Given the description of an element on the screen output the (x, y) to click on. 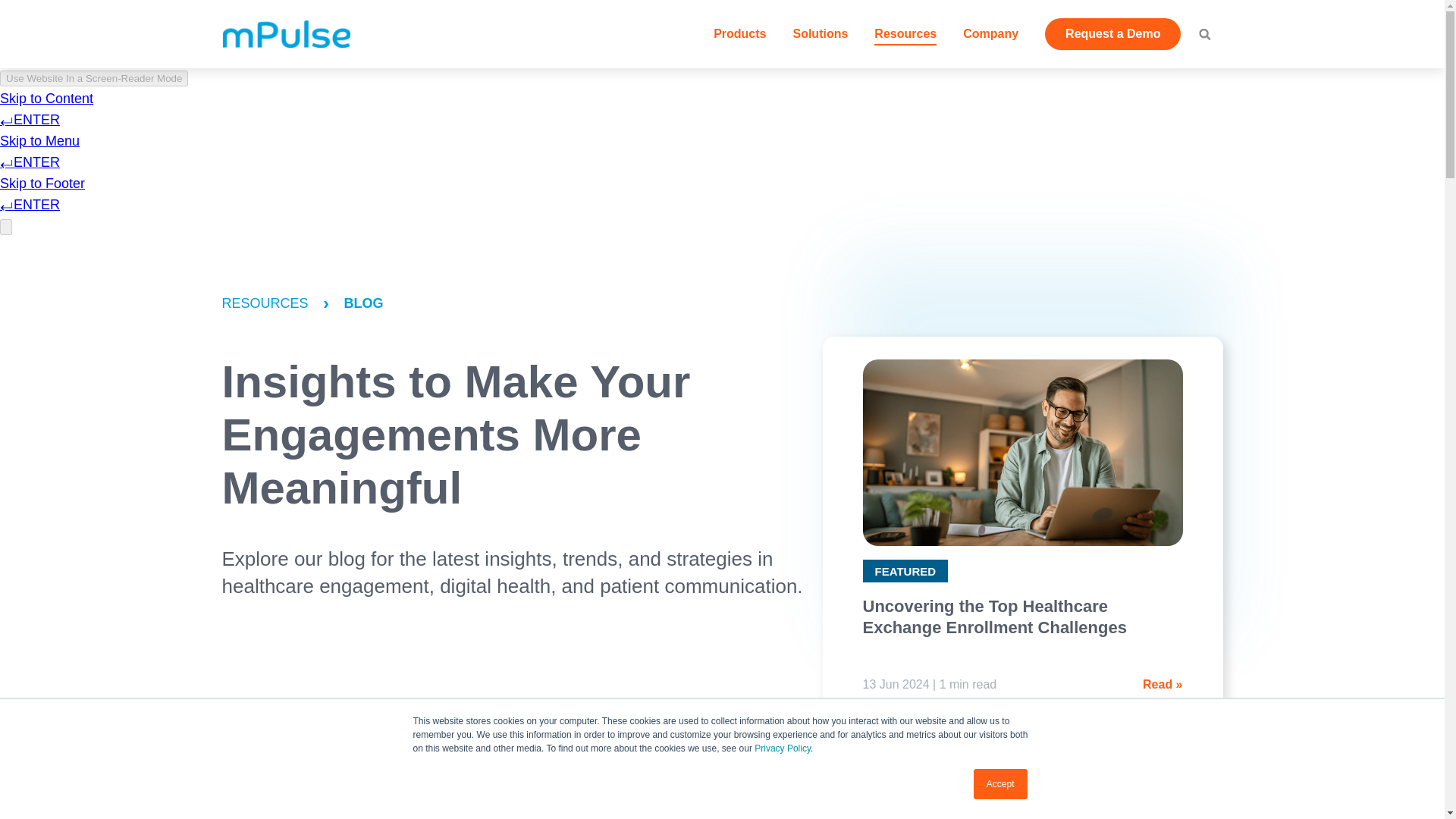
Accept (1000, 784)
Go to Resources. (280, 303)
Resources (905, 33)
Privacy Policy (782, 747)
